Given the description of an element on the screen output the (x, y) to click on. 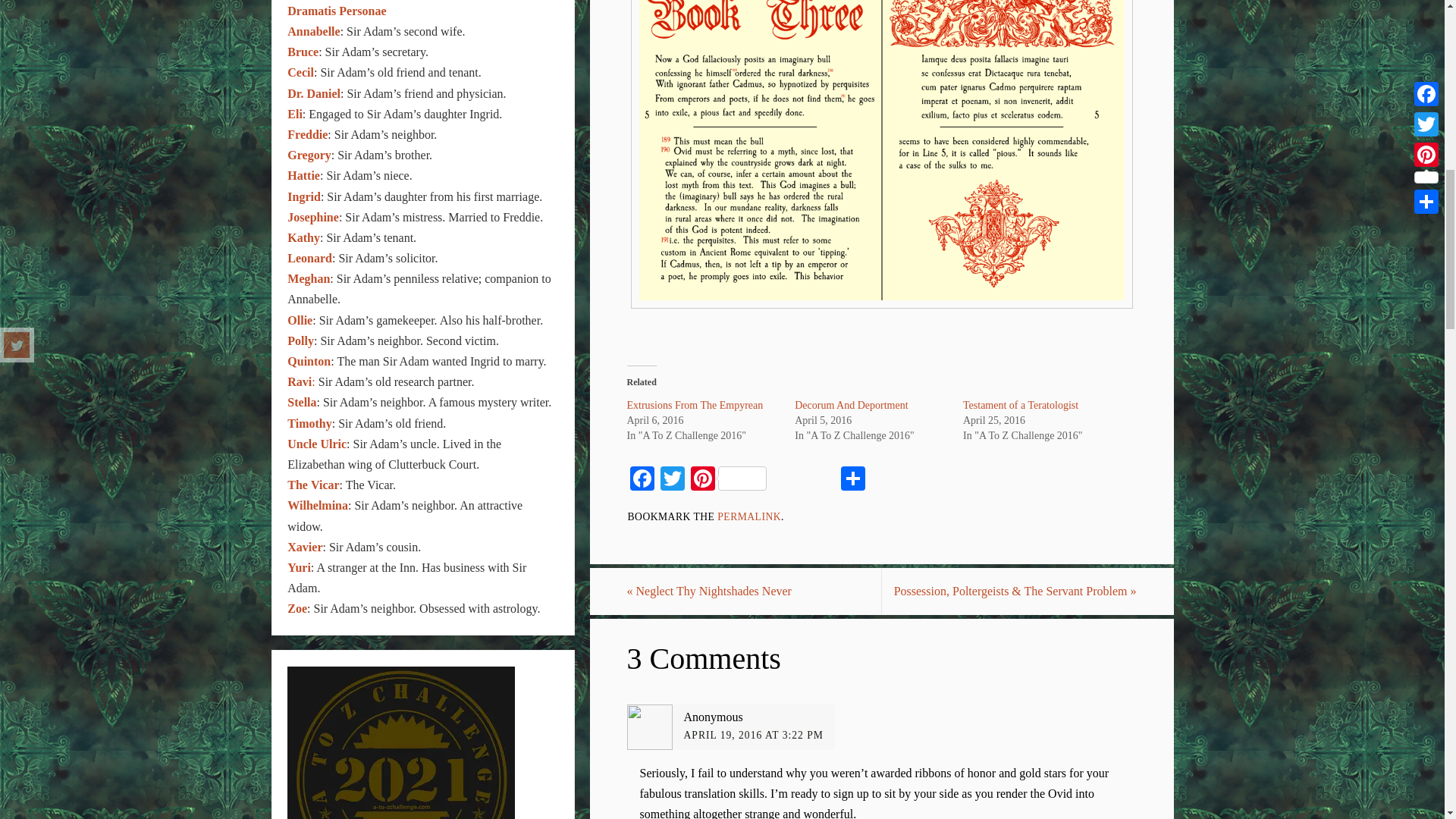
Decorum And Deportment (850, 405)
Twitter (671, 480)
Testament of a Teratologist (1020, 405)
Extrusions From The Empyrean (694, 405)
Pinterest (727, 480)
Testament of a Teratologist (1020, 405)
Share (852, 480)
Extrusions From The Empyrean (694, 405)
Twitter (671, 480)
Facebook (641, 480)
Facebook (641, 480)
APRIL 19, 2016 AT 3:22 PM (754, 735)
Decorum And Deportment (850, 405)
PERMALINK (748, 516)
Permalink to Ovid Metamorphosed (748, 516)
